Given the description of an element on the screen output the (x, y) to click on. 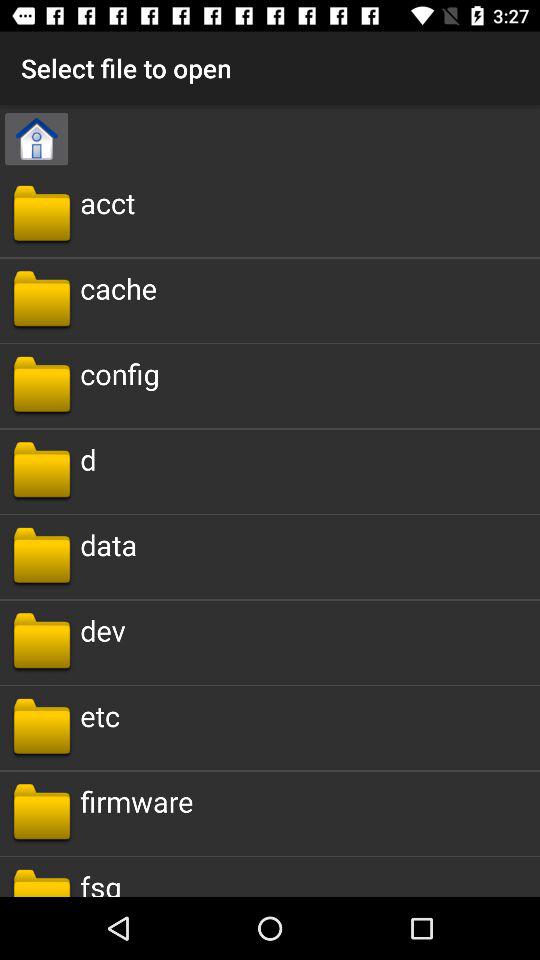
launch the item above the firmware (100, 715)
